Given the description of an element on the screen output the (x, y) to click on. 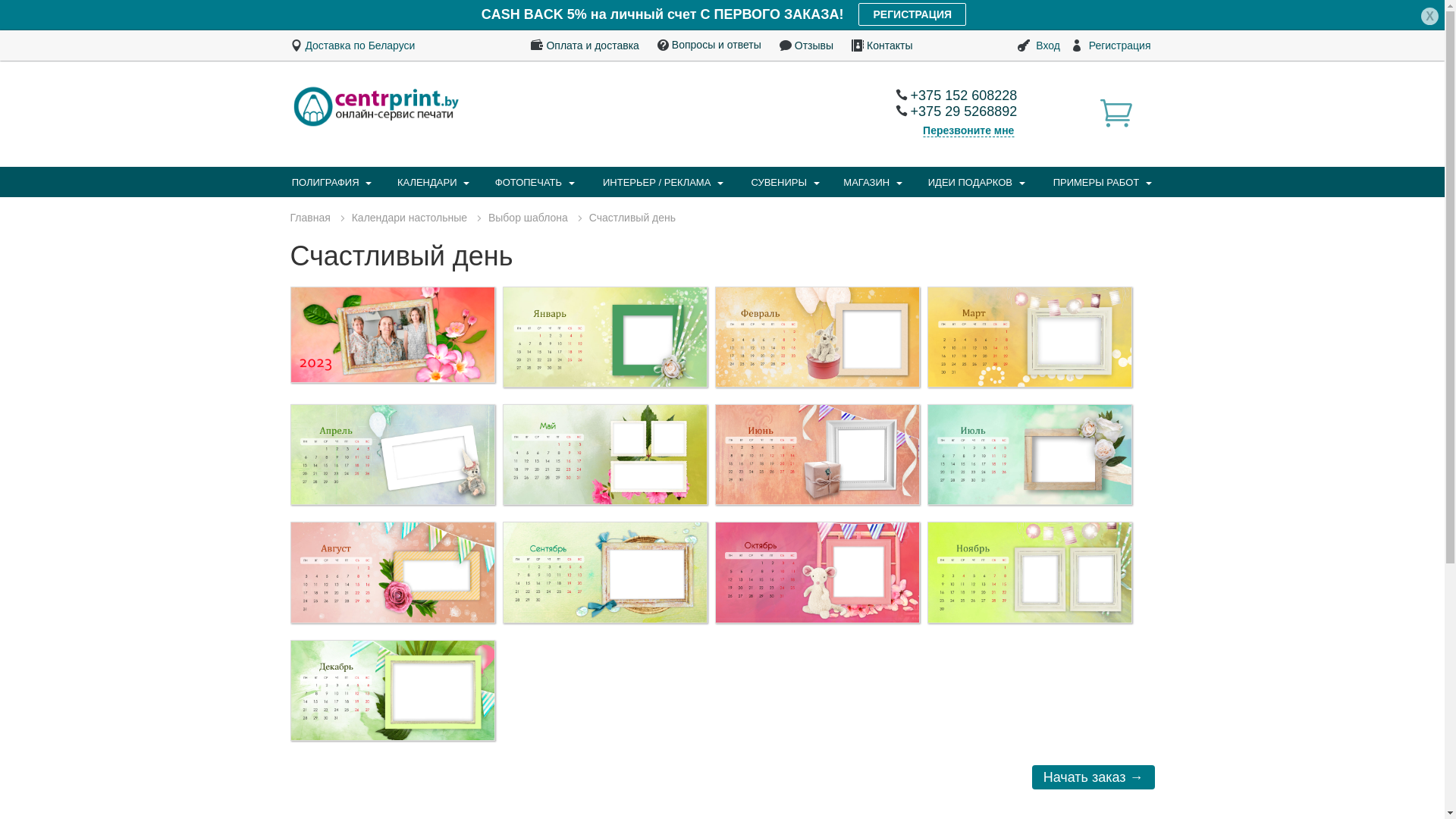
Centrprint.by Element type: hover (375, 104)
+375 152 608228 Element type: text (956, 95)
+375 29 5268892 Element type: text (956, 111)
